Given the description of an element on the screen output the (x, y) to click on. 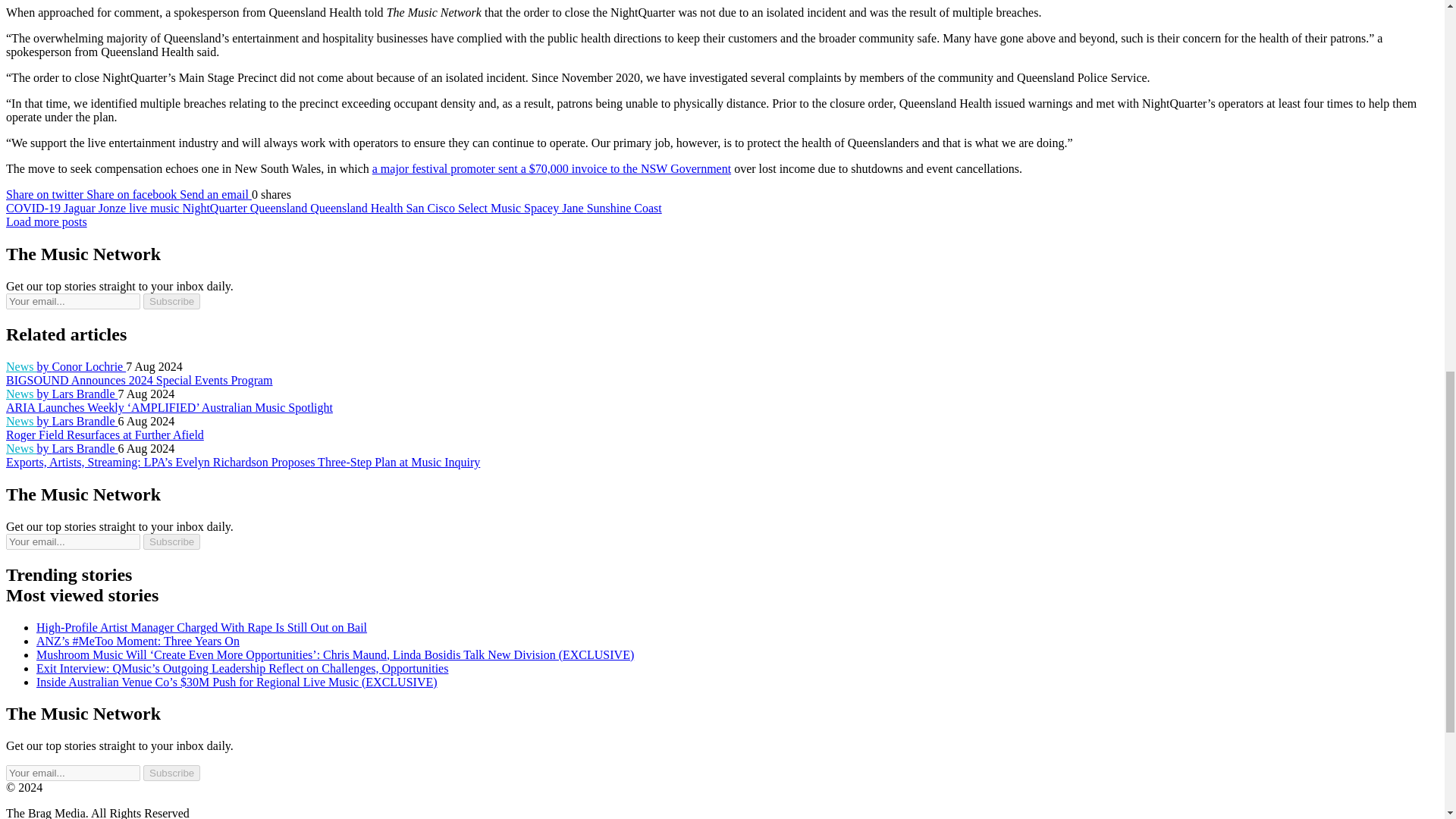
Subscribe (171, 301)
Subscribe (171, 772)
Subscribe (171, 541)
